Given the description of an element on the screen output the (x, y) to click on. 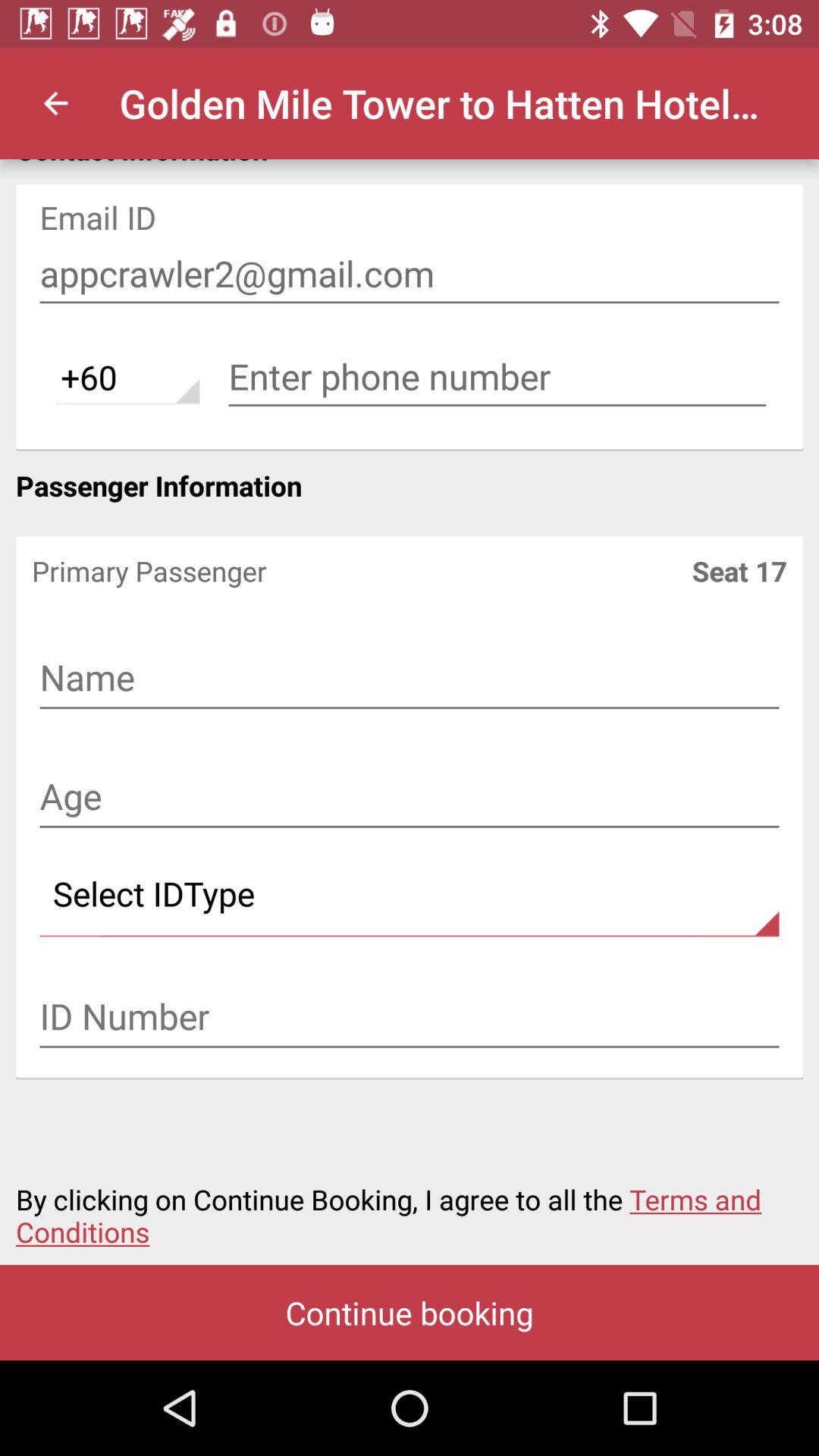
input name (409, 679)
